Given the description of an element on the screen output the (x, y) to click on. 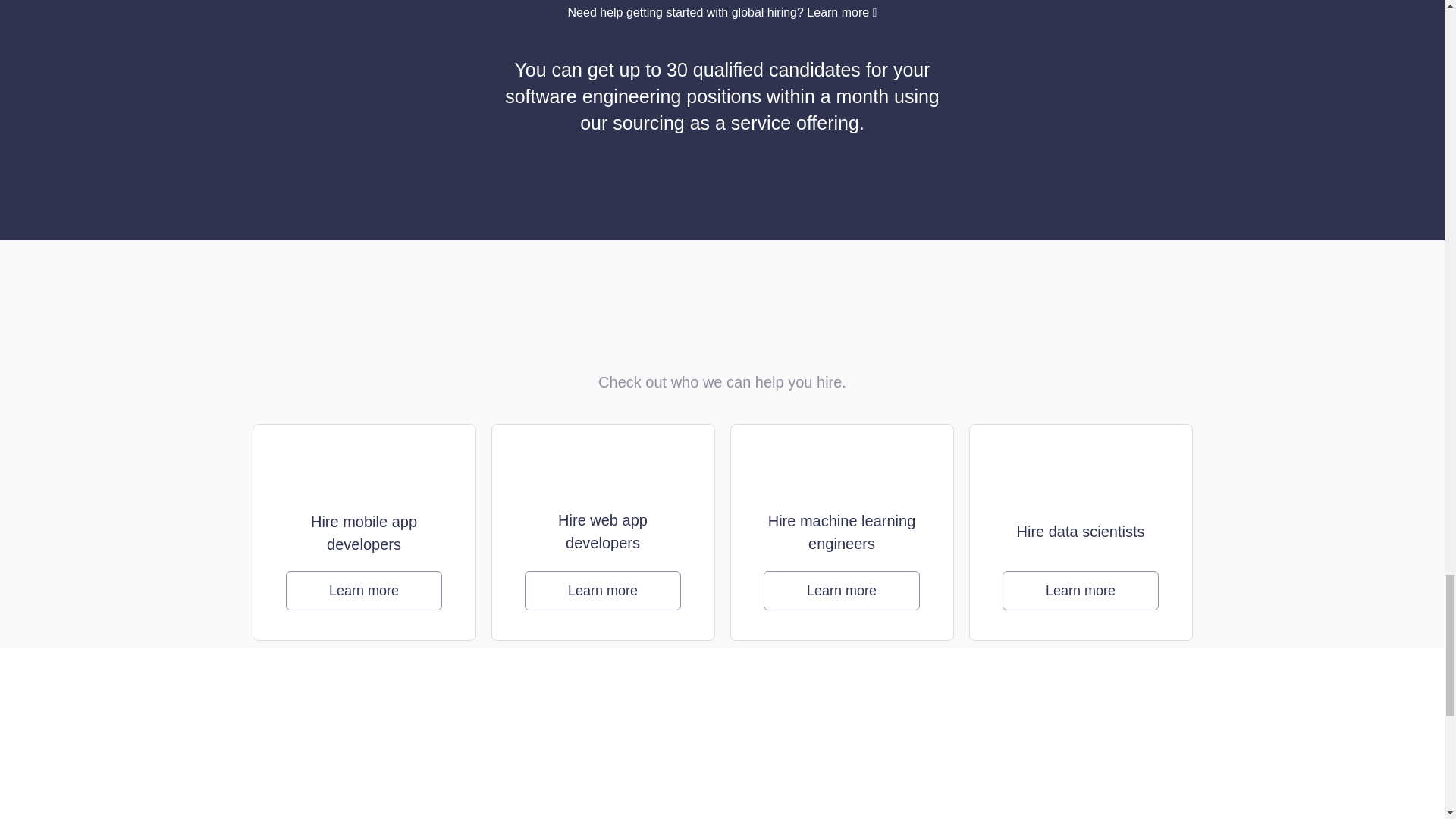
Learn more (841, 590)
Learn more (1080, 590)
Learn more (602, 590)
Learn more (363, 590)
